Given the description of an element on the screen output the (x, y) to click on. 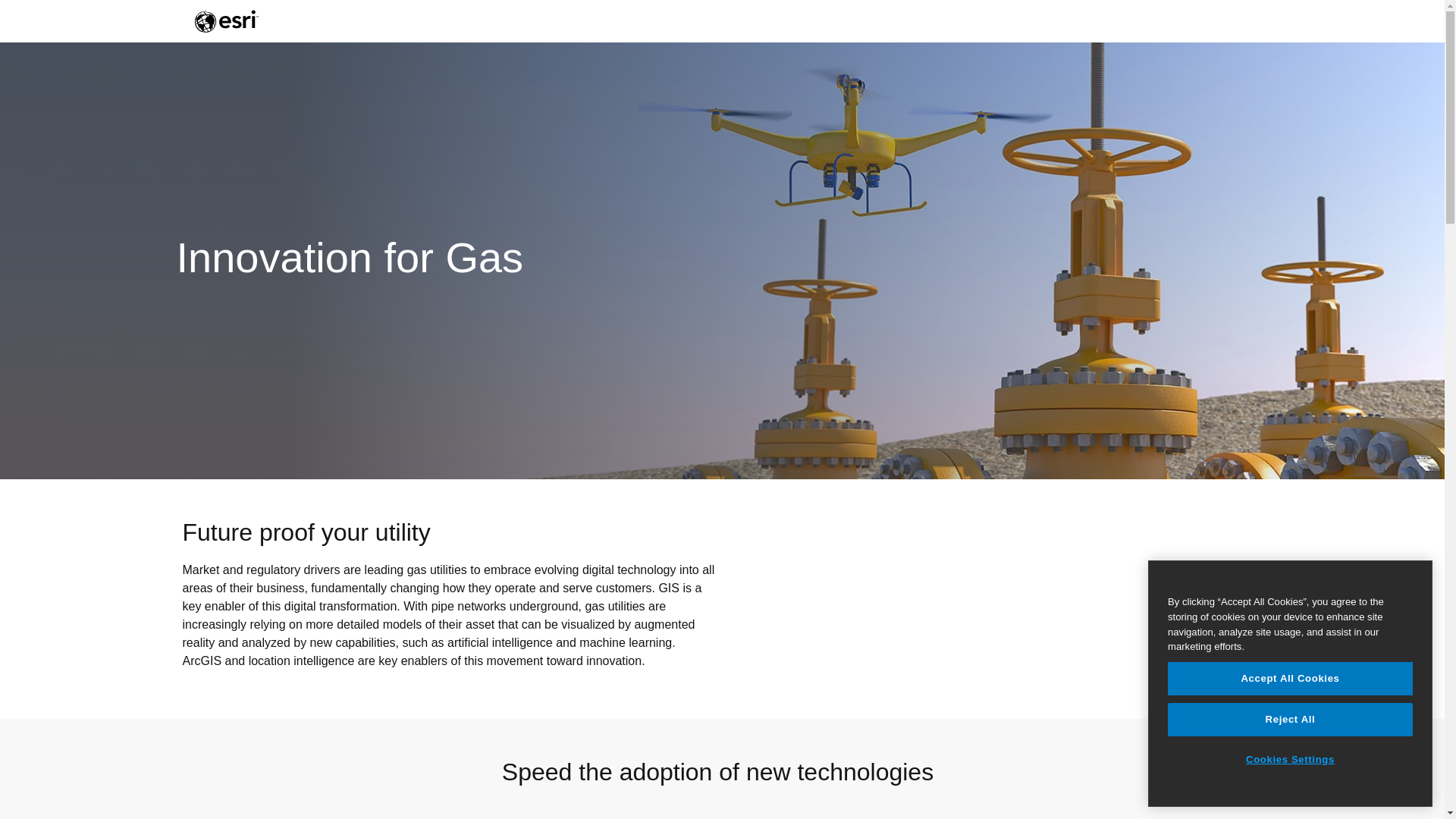
Cookies Settings (1289, 759)
Reject All (1289, 719)
Accept All Cookies (1289, 678)
